Given the description of an element on the screen output the (x, y) to click on. 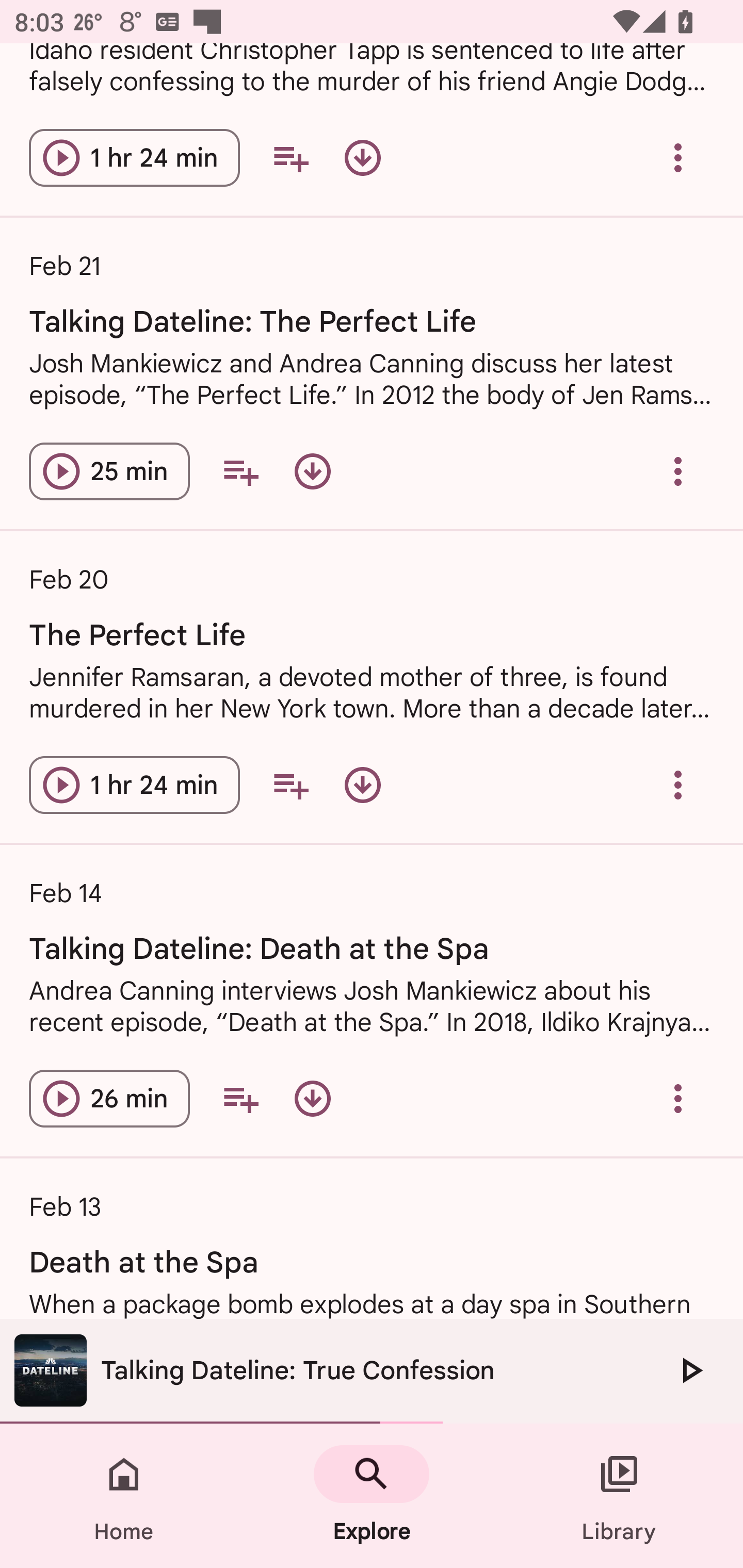
Play episode True Confession 1 hr 24 min (133, 157)
Add to your queue (290, 157)
Download episode (362, 157)
Overflow menu (677, 157)
Add to your queue (240, 471)
Download episode (312, 471)
Overflow menu (677, 471)
Play episode The Perfect Life 1 hr 24 min (133, 784)
Add to your queue (290, 784)
Download episode (362, 784)
Overflow menu (677, 784)
Add to your queue (240, 1098)
Download episode (312, 1098)
Overflow menu (677, 1098)
Play (690, 1370)
Home (123, 1495)
Library (619, 1495)
